Given the description of an element on the screen output the (x, y) to click on. 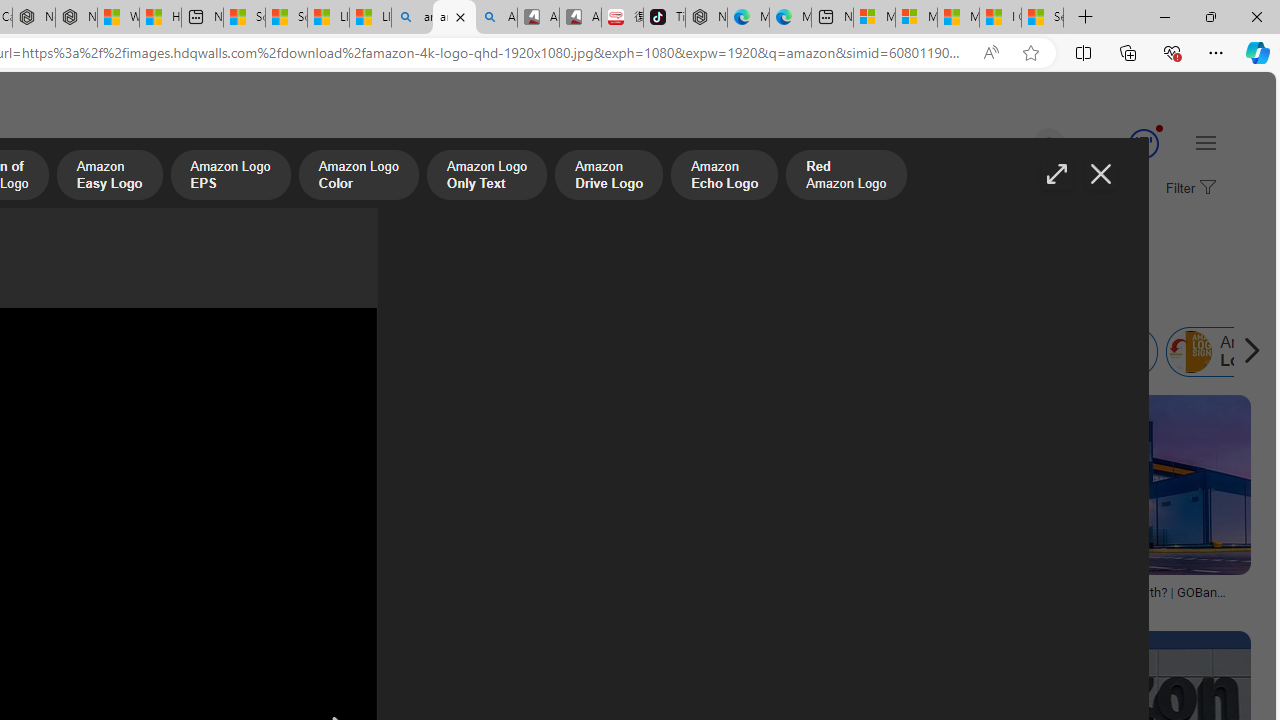
hdqwalls.com (802, 606)
Amazon Prime Membership (128, 351)
theverge.com (449, 605)
downdetector.ae (128, 605)
Amazon Package (1088, 351)
